Given the description of an element on the screen output the (x, y) to click on. 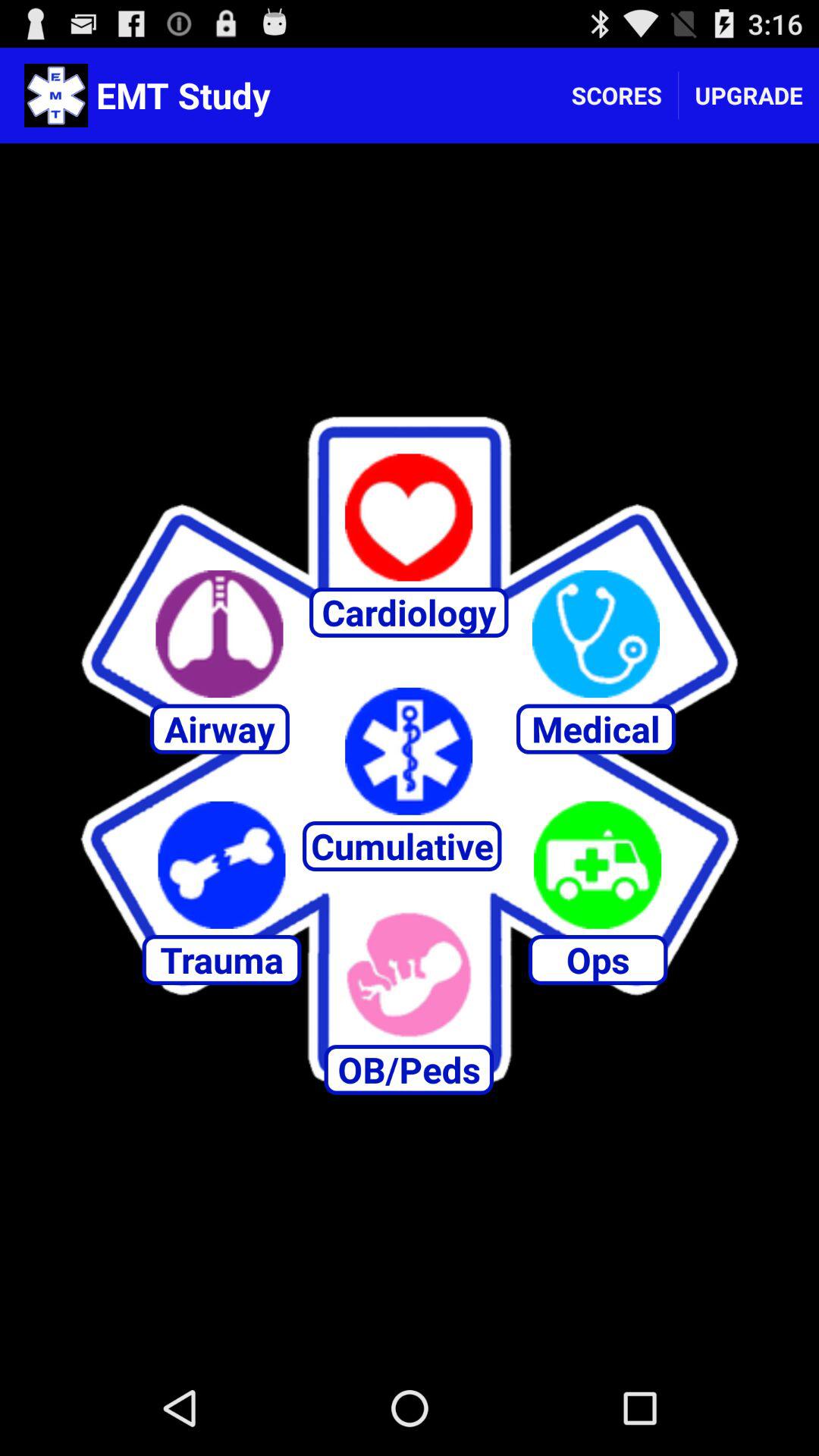
open medical section (595, 633)
